Given the description of an element on the screen output the (x, y) to click on. 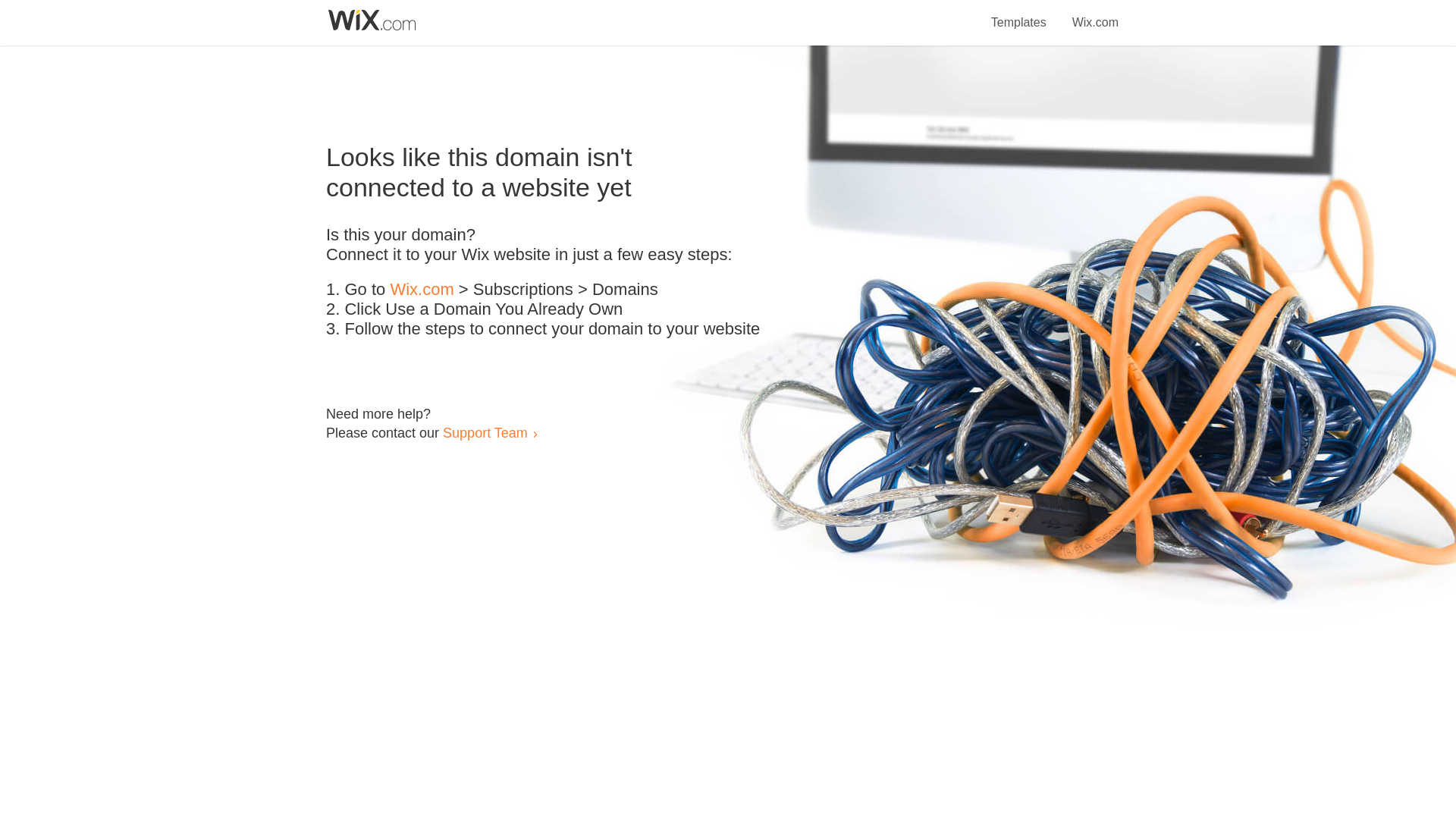
Templates (1018, 14)
Support Team (484, 432)
Wix.com (421, 289)
Wix.com (1095, 14)
